Given the description of an element on the screen output the (x, y) to click on. 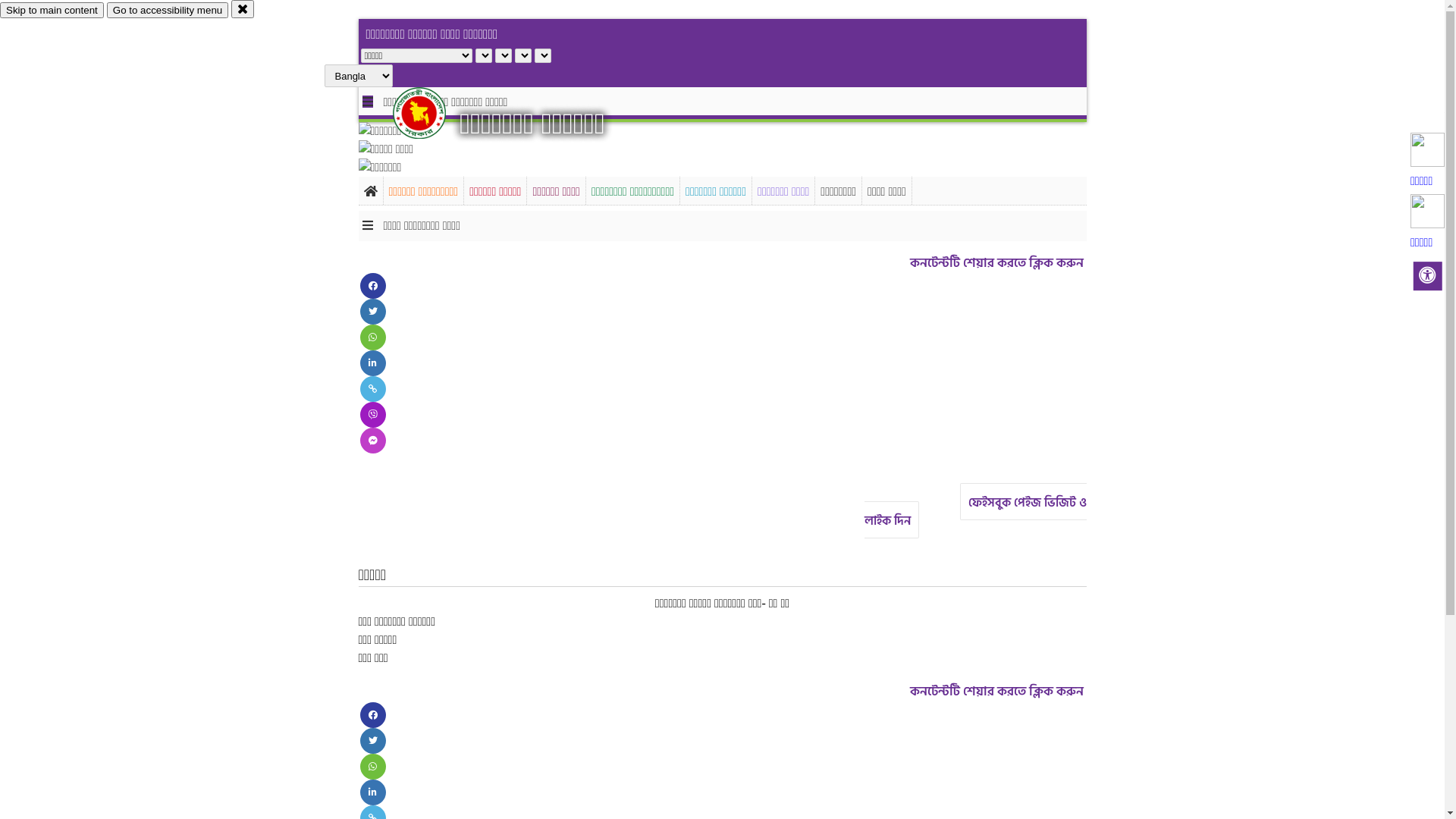
close Element type: hover (242, 9)
Go to accessibility menu Element type: text (167, 10)

                
             Element type: hover (431, 112)
Skip to main content Element type: text (51, 10)
